Given the description of an element on the screen output the (x, y) to click on. 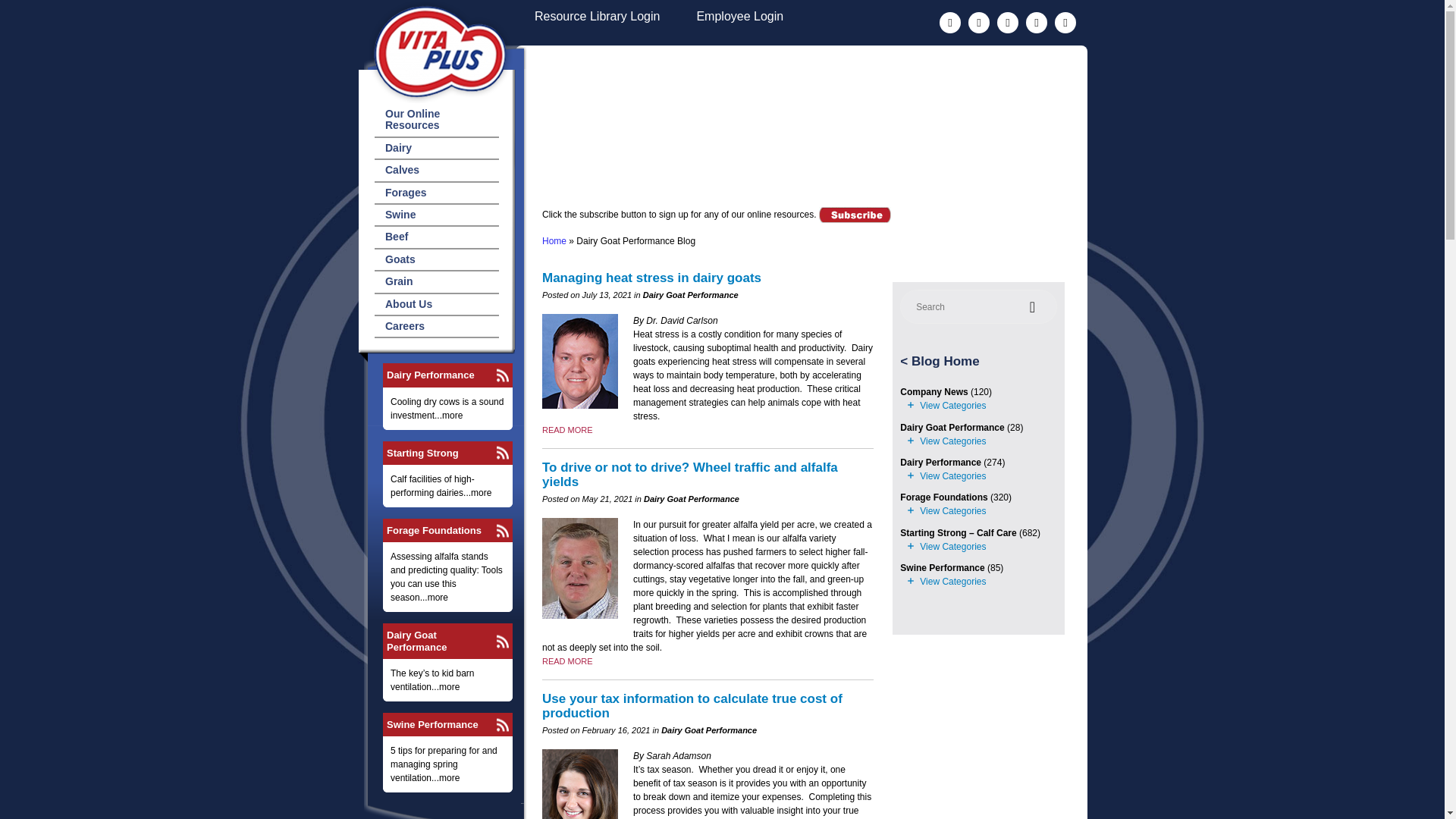
Search (1034, 306)
Winter calf barn ventilation (566, 429)
Winter calf barn ventilation (566, 660)
